Given the description of an element on the screen output the (x, y) to click on. 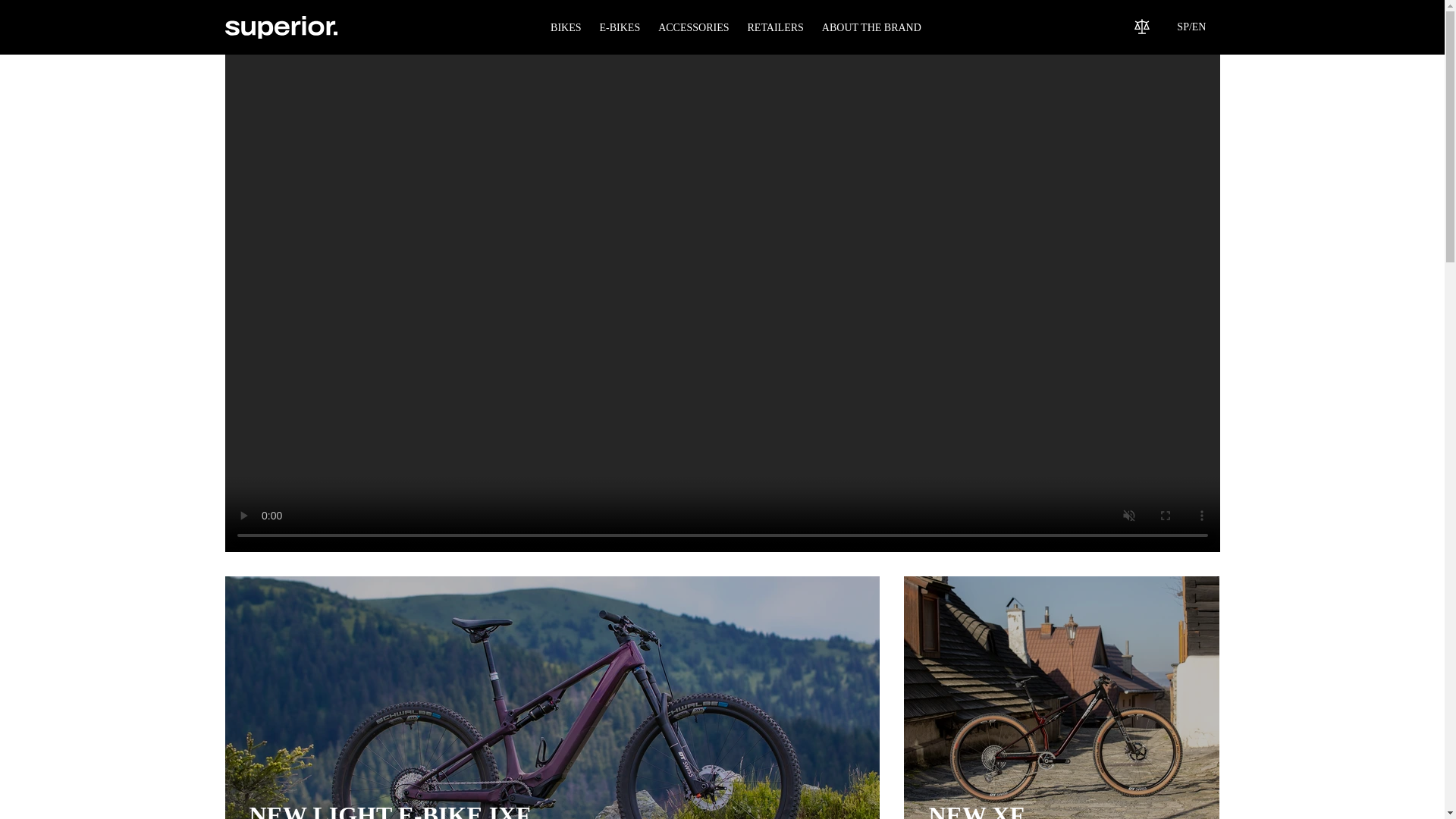
E-BIKES (619, 27)
BIKES (1062, 697)
ABOUT THE BRAND (565, 27)
ACCESSORIES (775, 27)
